Given the description of an element on the screen output the (x, y) to click on. 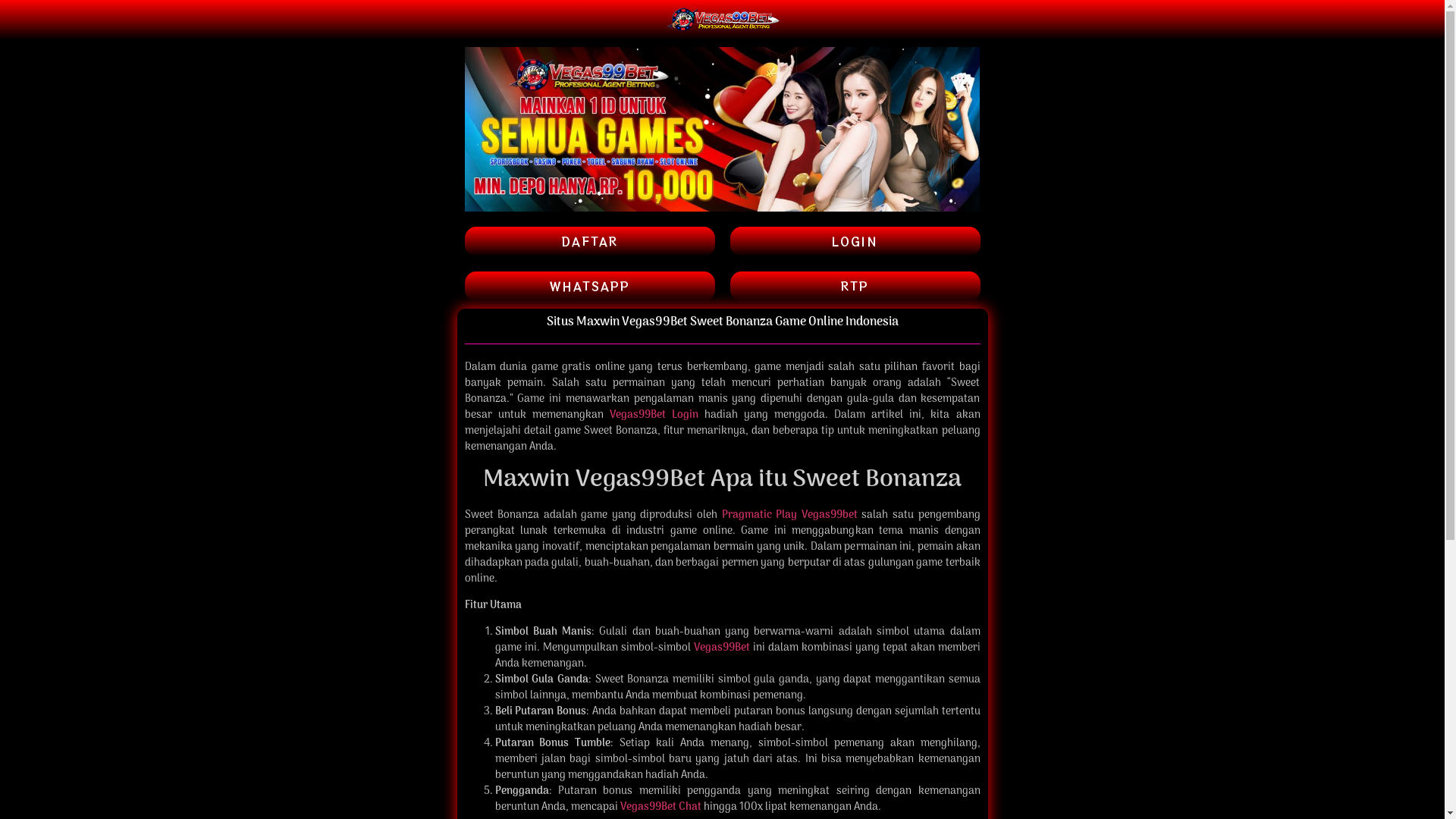
Vegas99Bet Element type: text (721, 647)
Vegas99Bet Chat Element type: text (660, 806)
Vegas99Bet Login Element type: text (653, 414)
DAFTAR Element type: text (589, 241)
RTP Element type: text (854, 286)
WHATSAPP Element type: text (589, 286)
LOGIN Element type: text (854, 241)
Pragmatic Play Vegas99bet Element type: text (789, 515)
